Given the description of an element on the screen output the (x, y) to click on. 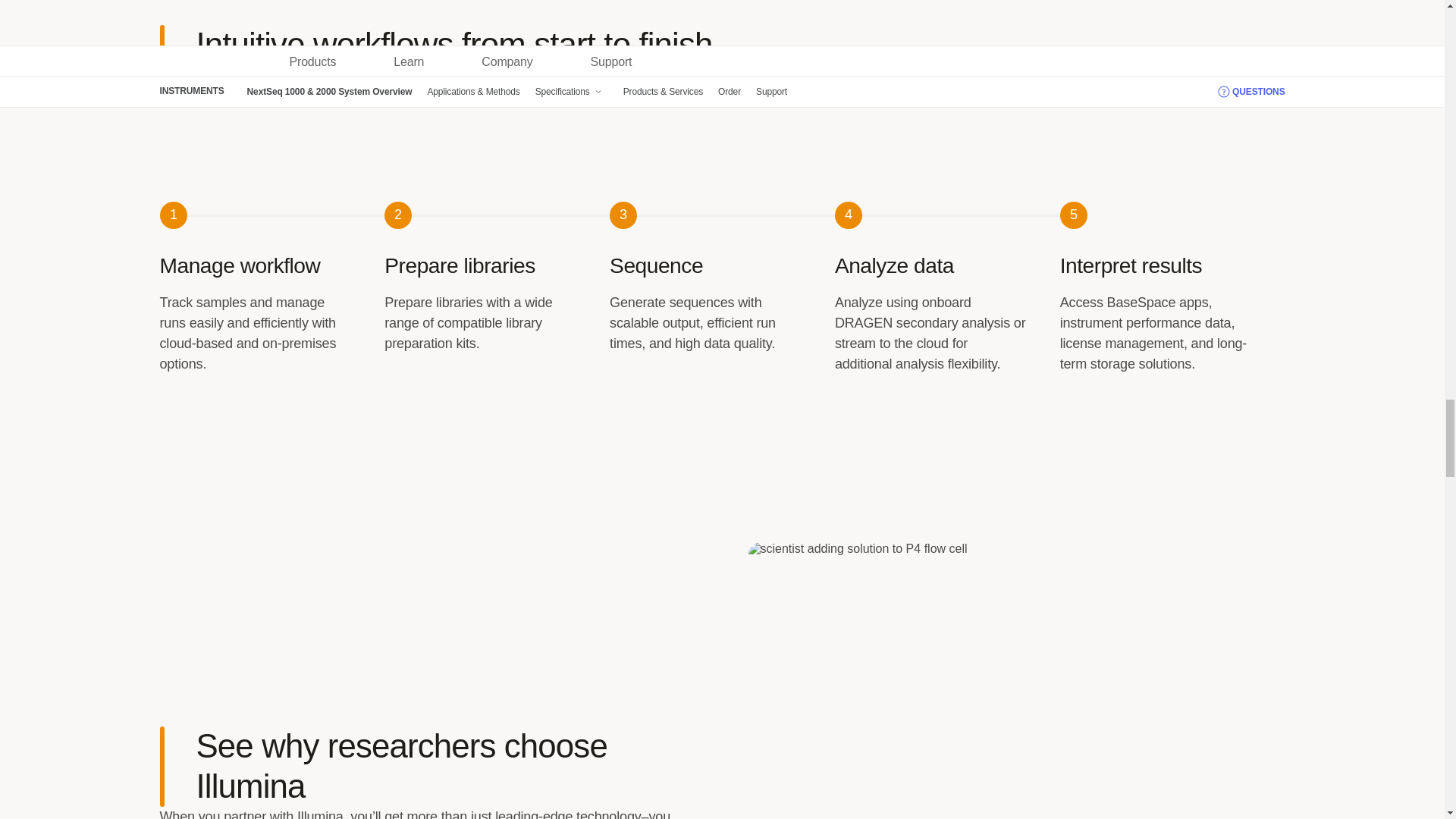
4 (946, 216)
3 (722, 216)
2 (497, 216)
1 (271, 216)
5 (1172, 216)
